Given the description of an element on the screen output the (x, y) to click on. 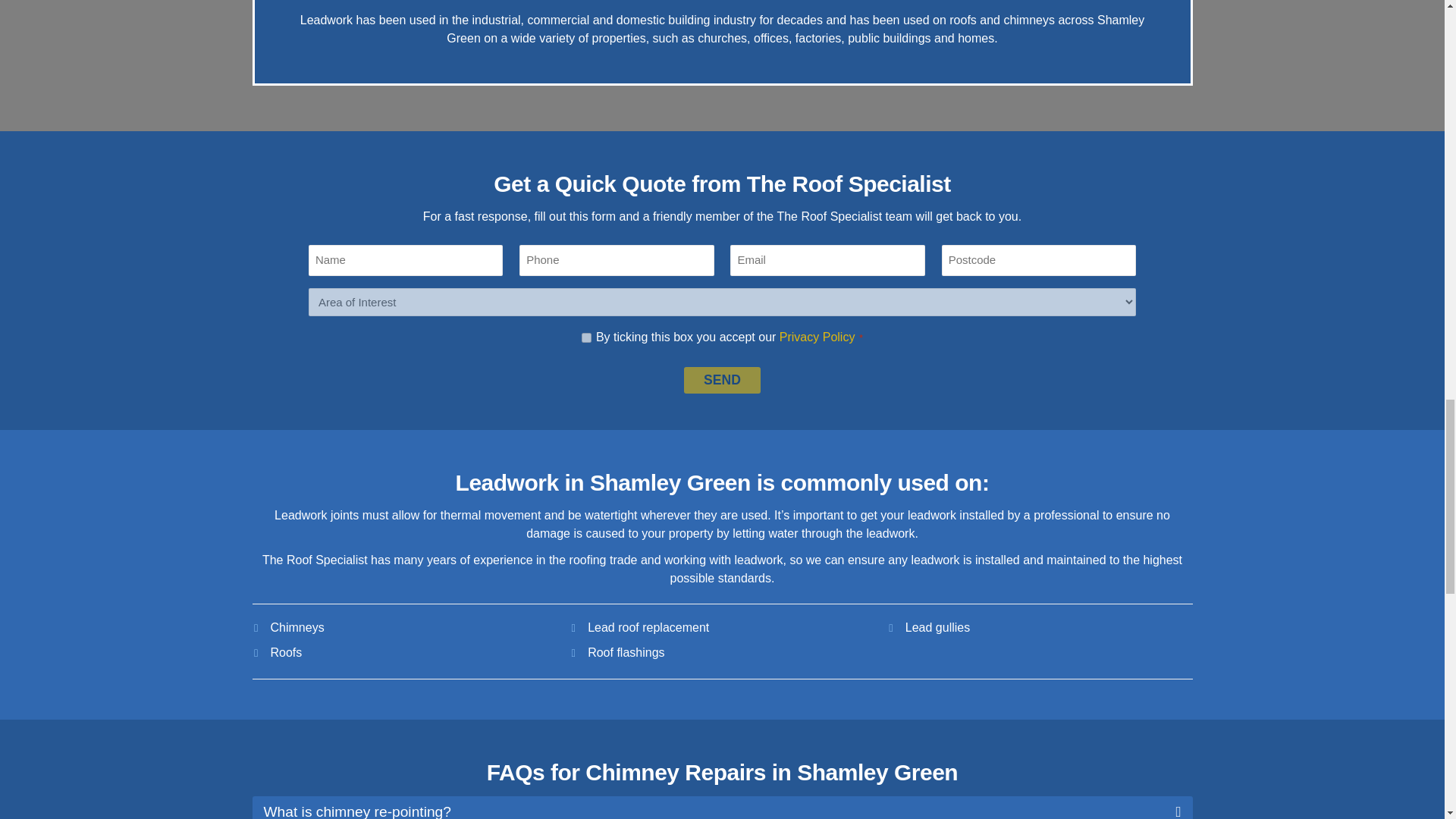
Send (722, 379)
1 (585, 337)
Privacy Policy (817, 336)
